Given the description of an element on the screen output the (x, y) to click on. 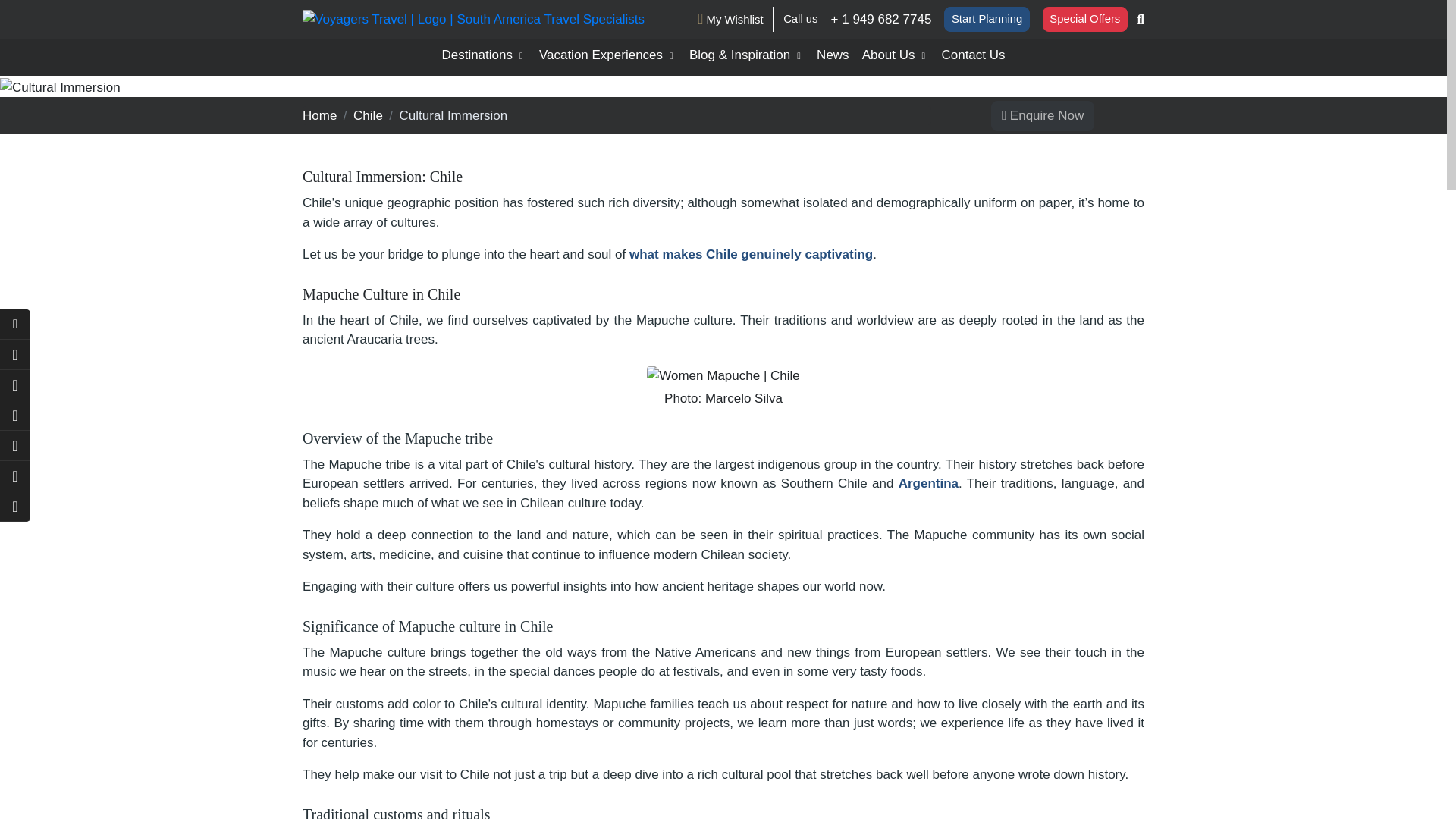
Destinations (483, 57)
Voyagers Travel Social Network (15, 354)
Voyagers Travel Social Network (15, 415)
Voyagers Travel Social Network (15, 476)
Voyagers Travel Social Network (15, 445)
Cultural Immersion (60, 87)
Special Offers (1084, 18)
My Wishlist (729, 18)
Start Planning (986, 18)
Voyagers Travel Social Network (15, 506)
Voyagers Travel Social Network (15, 385)
